Given the description of an element on the screen output the (x, y) to click on. 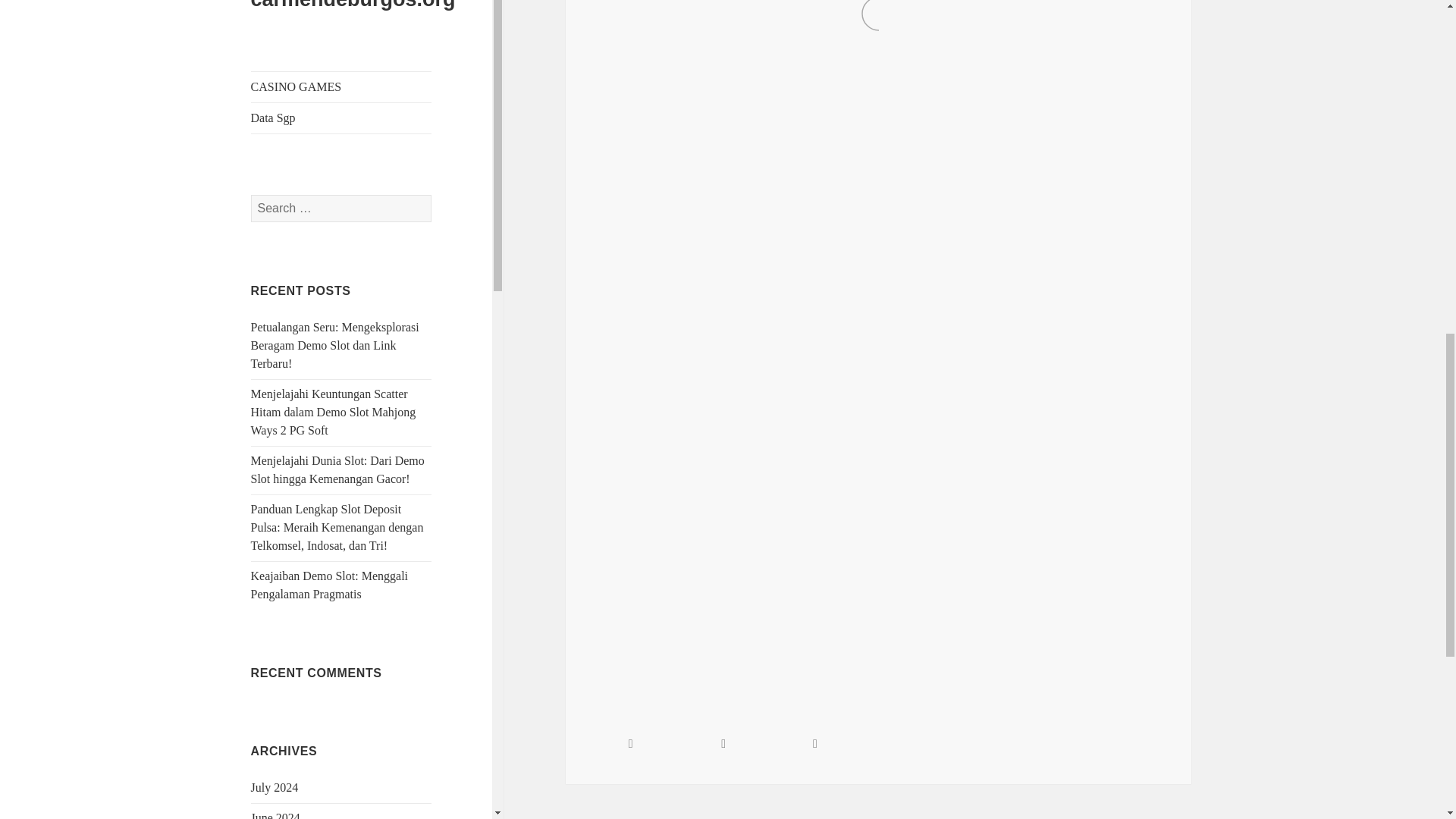
February 2023 (285, 557)
December 2022 (289, 617)
December 2023 (289, 254)
April 2024 (277, 132)
August 2023 (281, 375)
June 2022 (274, 799)
June 2024 (274, 72)
June 2023 (274, 436)
March 2024 (280, 163)
July 2023 (274, 405)
November 2023 (290, 284)
July 2022 (274, 769)
September 2022 (290, 708)
January 2023 (282, 587)
May 2024 (274, 102)
